Given the description of an element on the screen output the (x, y) to click on. 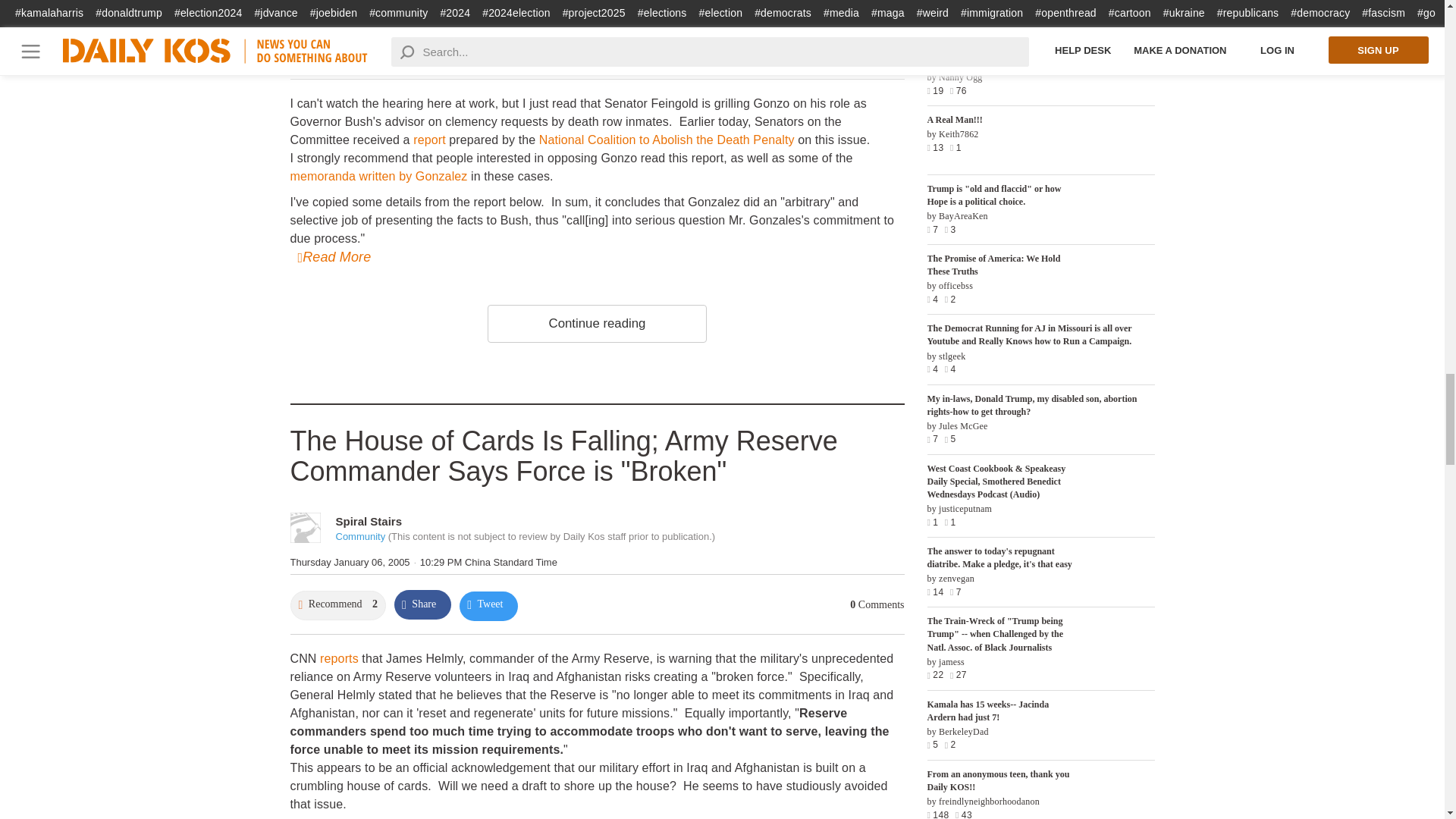
0 Comments (877, 604)
5 Comments 5 New (859, 50)
